Given the description of an element on the screen output the (x, y) to click on. 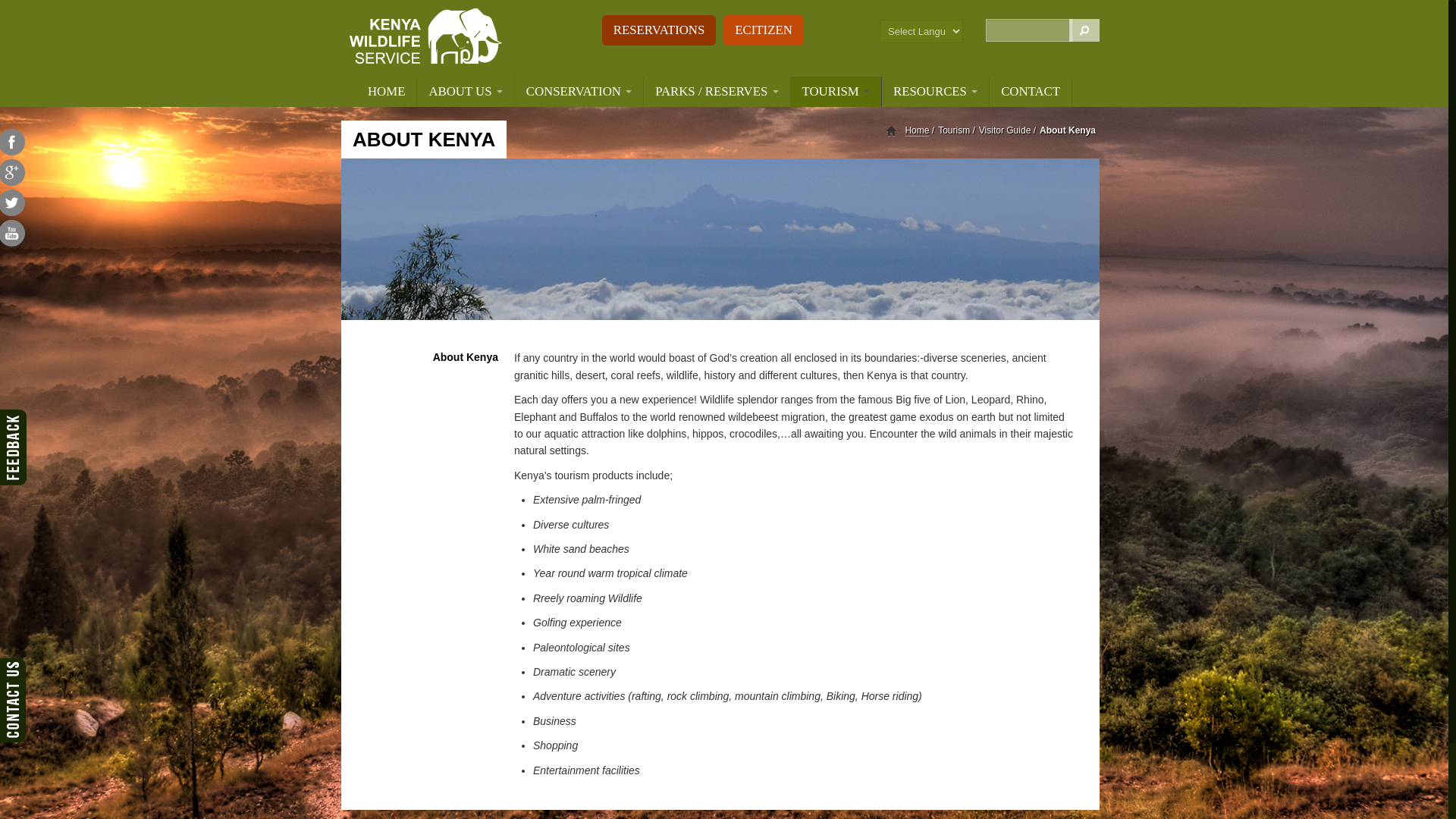
HOME (386, 91)
ECITIZEN (763, 30)
Search (1083, 29)
ABOUT US (464, 91)
RESERVATIONS (659, 30)
Search (1083, 29)
CONSERVATION (579, 91)
